Given the description of an element on the screen output the (x, y) to click on. 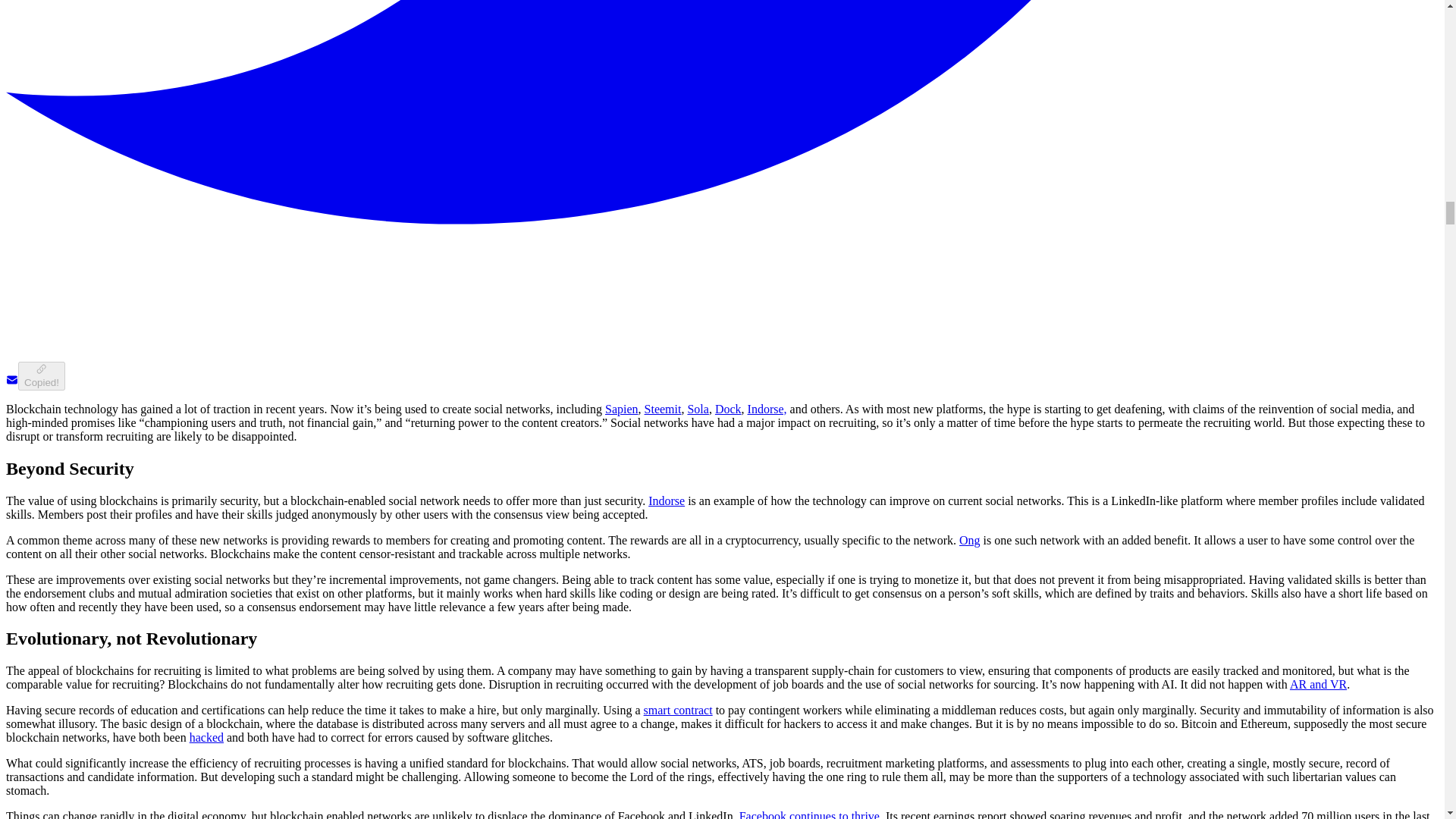
Facebook continues to thrive. (810, 814)
smart contract (678, 709)
AR and VR (1318, 684)
Sola (697, 408)
Ong (969, 540)
Sapien (622, 408)
Indorse (665, 500)
Dock (727, 408)
Steemit (663, 408)
hacked (206, 737)
